Given the description of an element on the screen output the (x, y) to click on. 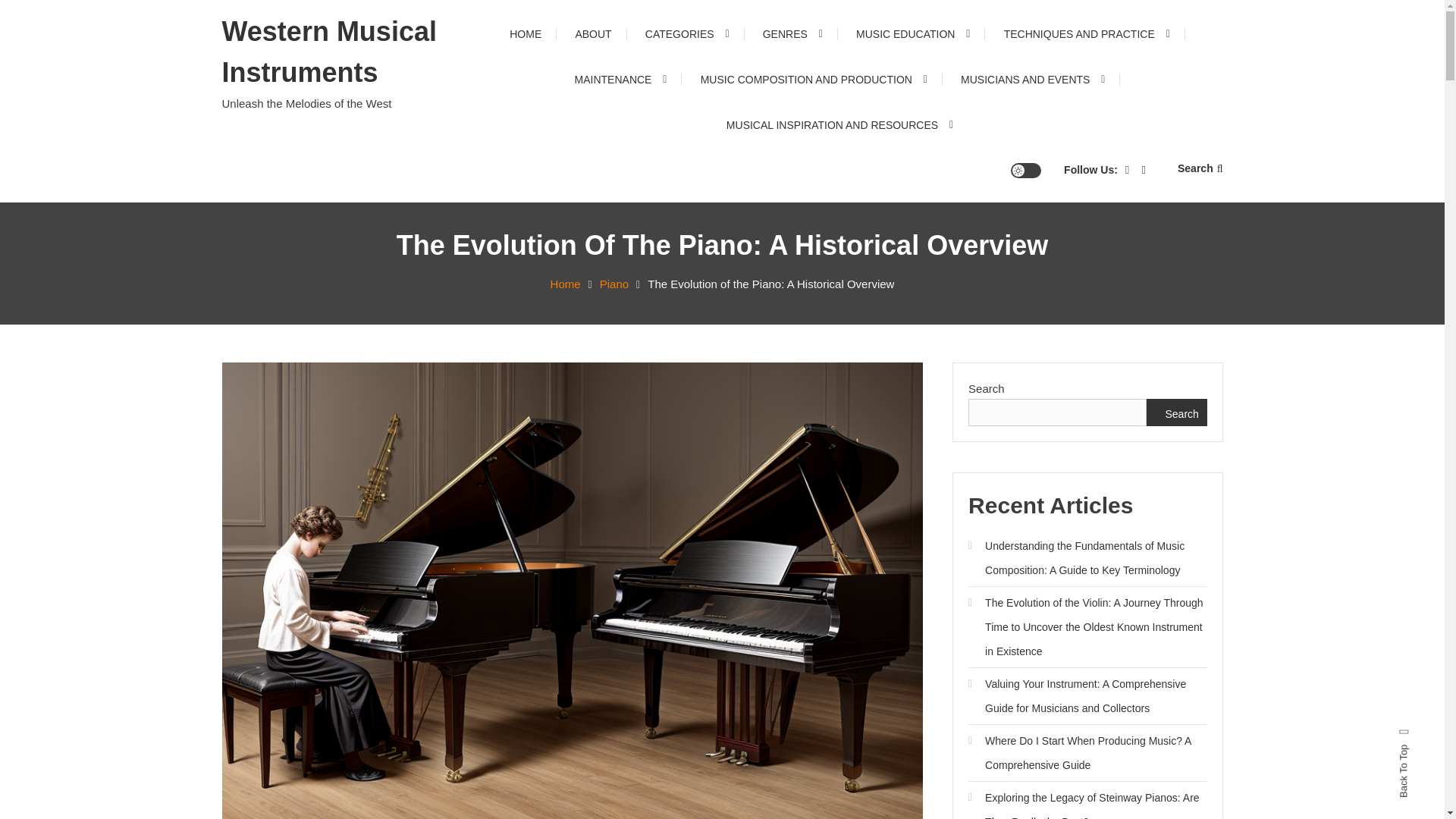
CATEGORIES (687, 33)
GENRES (793, 33)
MUSIC EDUCATION (913, 33)
Western Musical Instruments (328, 51)
HOME (525, 33)
ABOUT (592, 33)
